Given the description of an element on the screen output the (x, y) to click on. 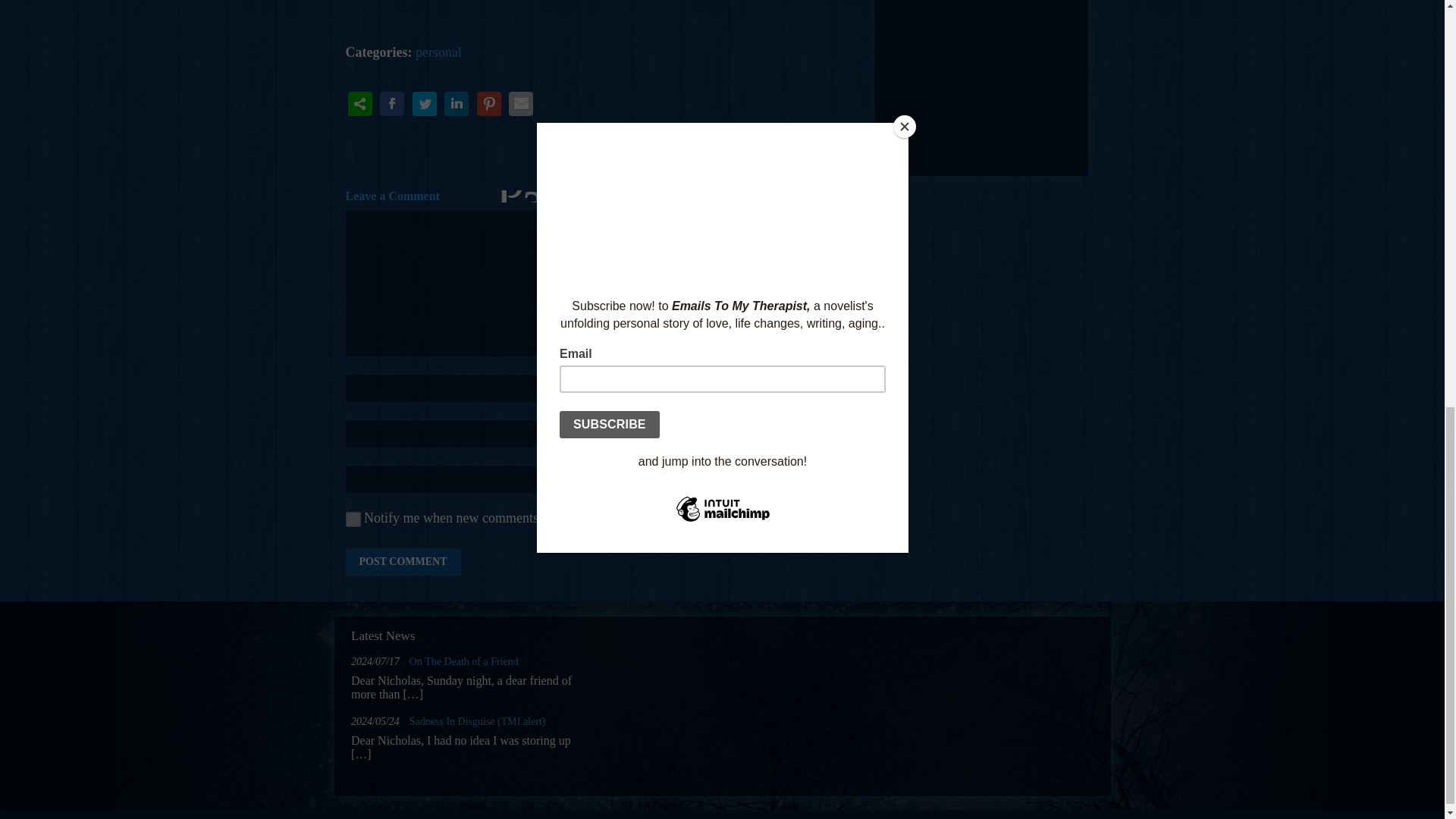
Post Comment (403, 560)
Post Comment (403, 560)
On The Death of a Friend (463, 661)
1 (353, 519)
personal (437, 52)
